Given the description of an element on the screen output the (x, y) to click on. 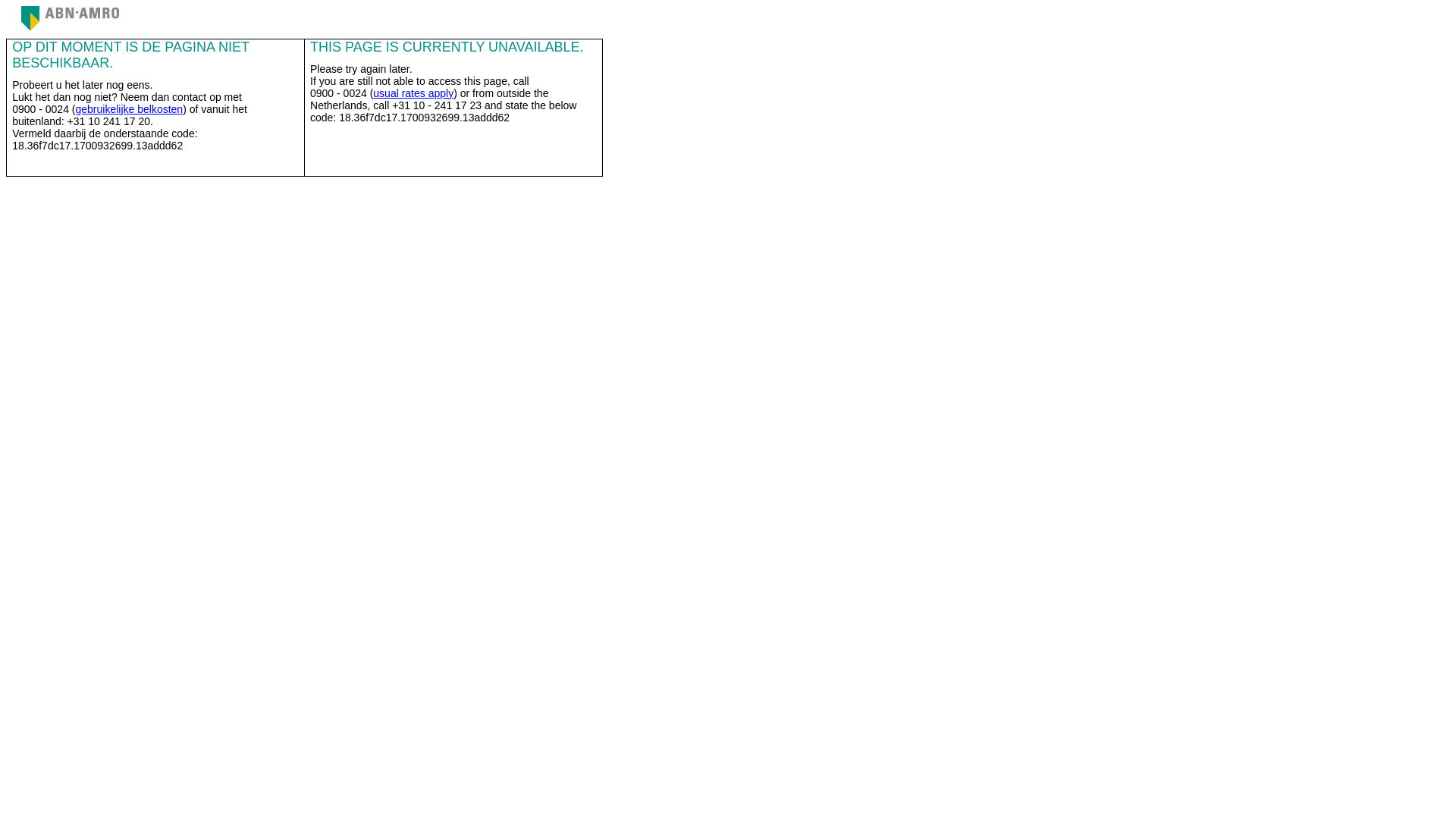
gebruikelijke belkosten Element type: text (128, 109)
usual rates apply Element type: text (413, 93)
